Given the description of an element on the screen output the (x, y) to click on. 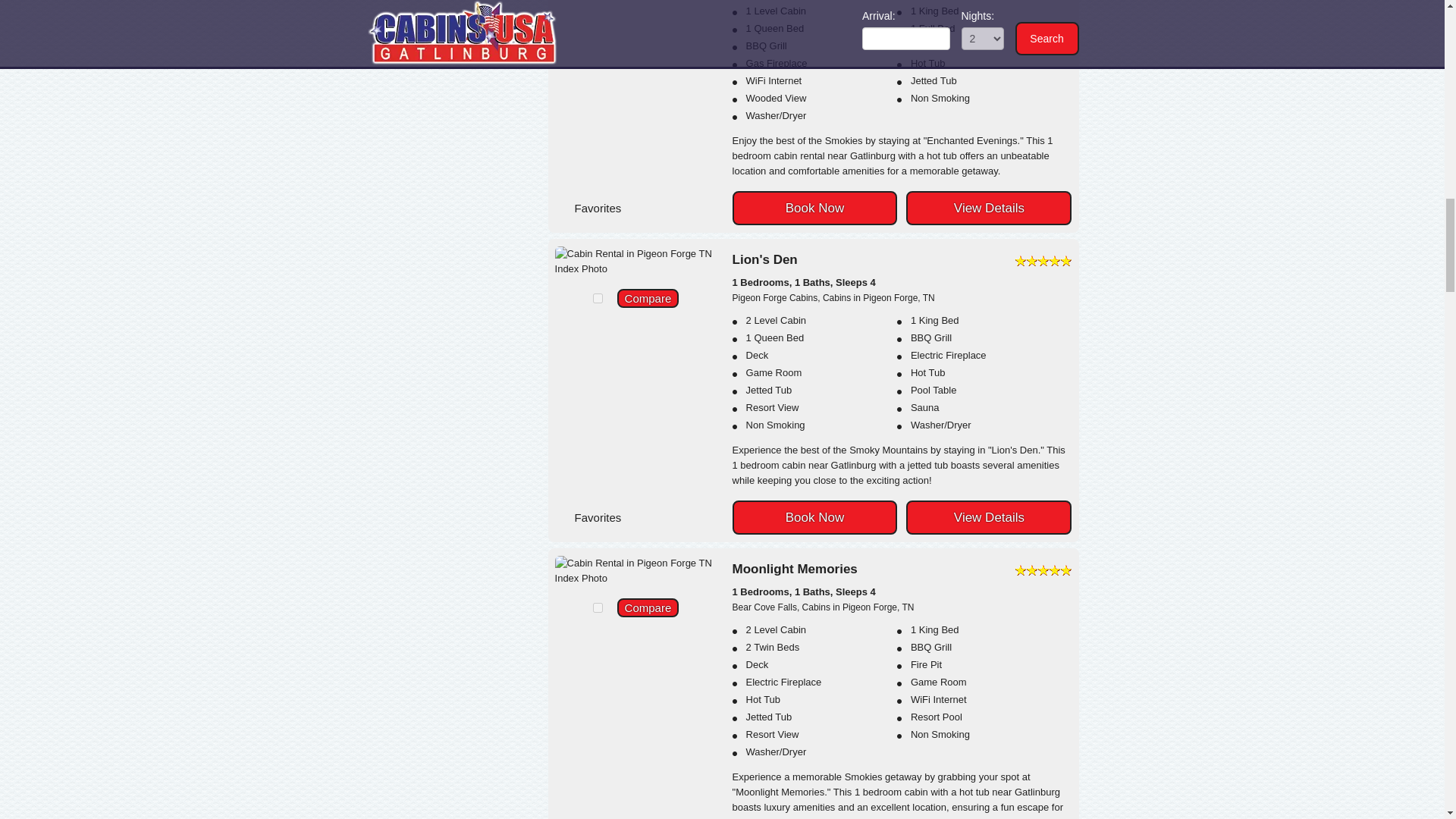
1277 (597, 607)
308 (597, 298)
Compare (648, 298)
Compare (648, 607)
